Given the description of an element on the screen output the (x, y) to click on. 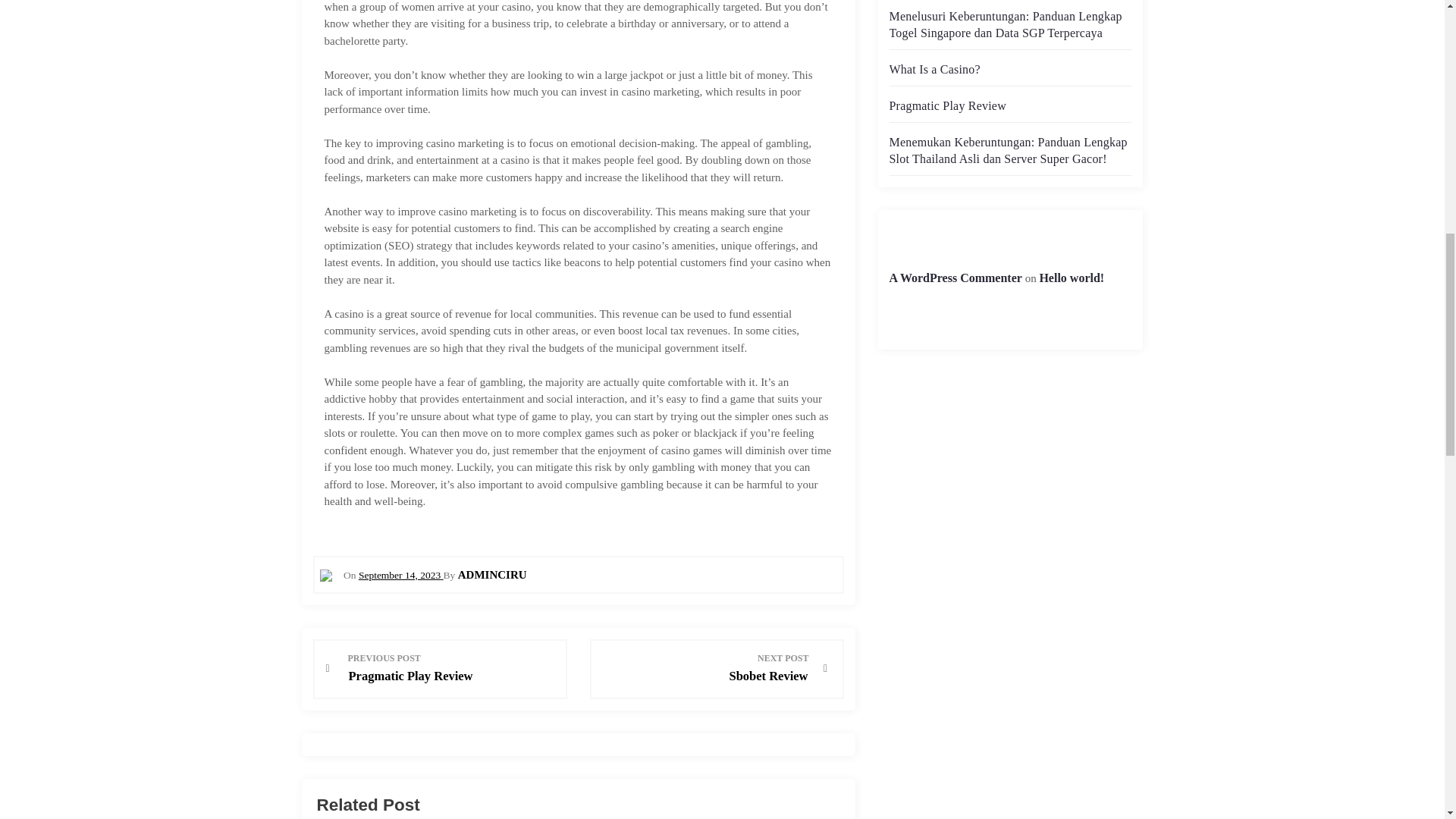
September 14, 2023 (401, 573)
What Is a Casino? (933, 69)
Hello world! (1071, 277)
A WordPress Commenter (705, 667)
ADMINCIRU (955, 277)
Pragmatic Play Review (451, 667)
